Given the description of an element on the screen output the (x, y) to click on. 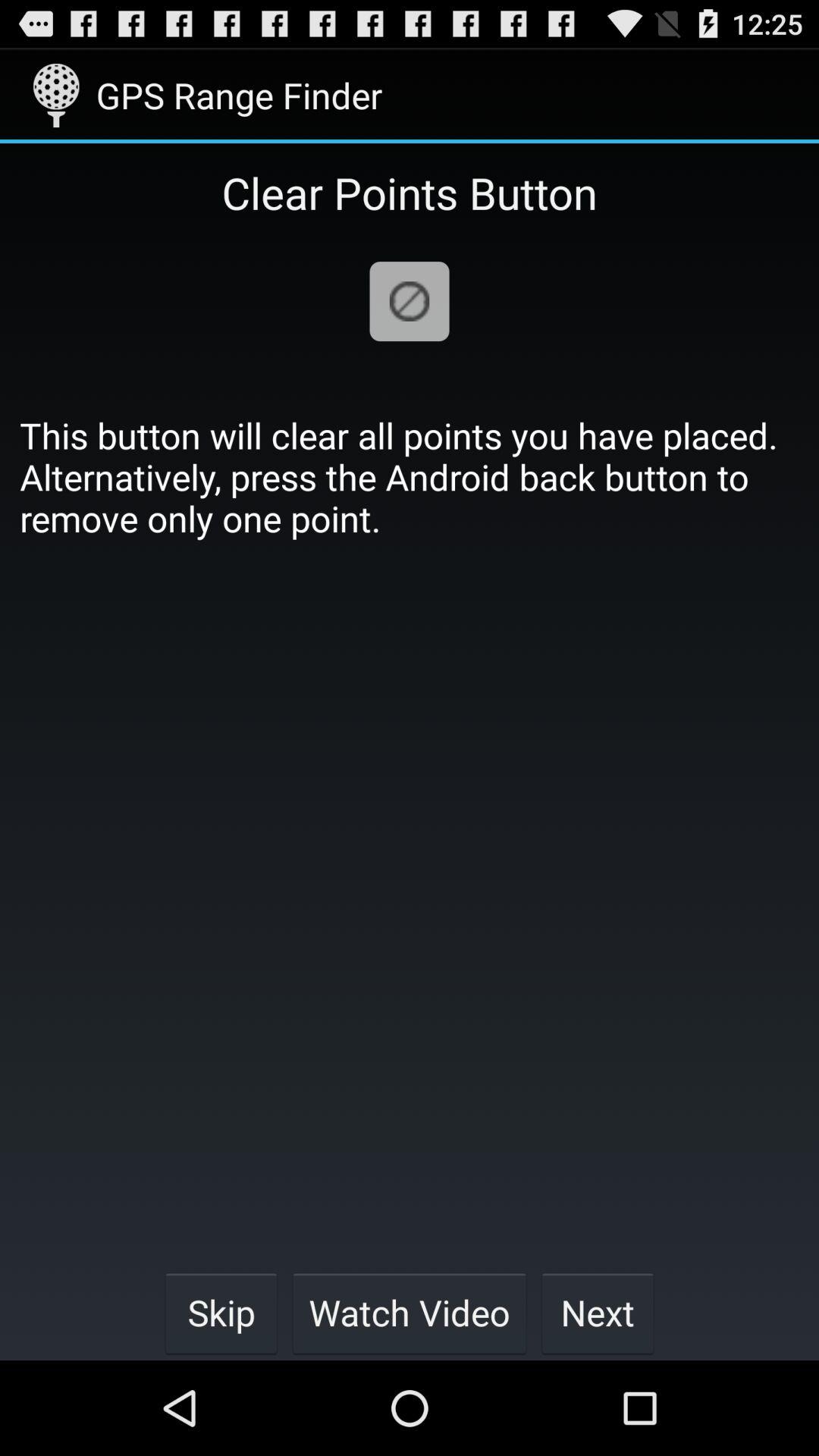
turn off the item to the left of next icon (409, 1312)
